Given the description of an element on the screen output the (x, y) to click on. 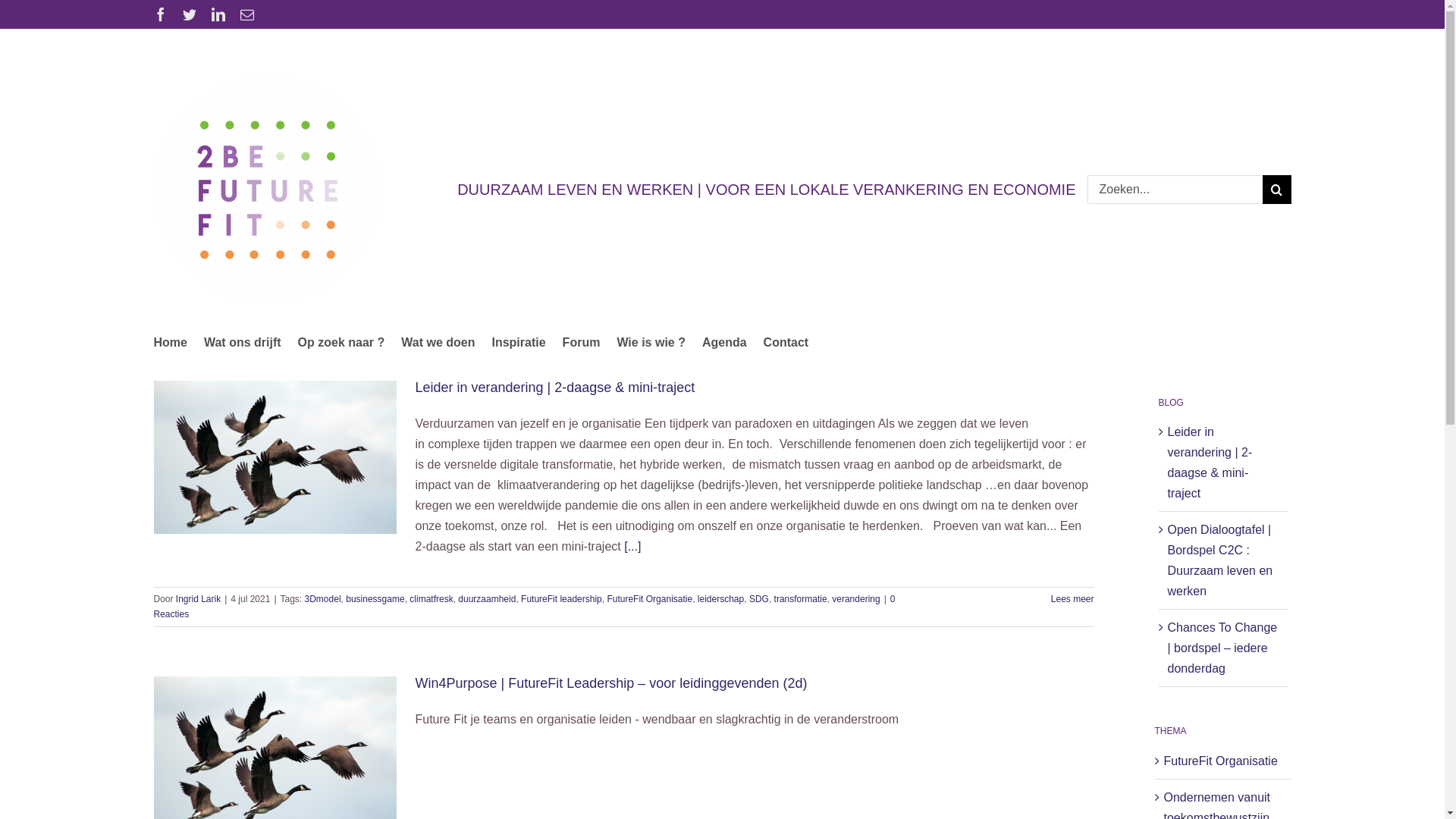
FutureFit Organisatie Element type: text (1223, 760)
Agenda Element type: text (724, 341)
Inspiratie Element type: text (518, 341)
Open Dialoogtafel | Bordspel C2C : Duurzaam leven en werken Element type: text (1220, 560)
Lees meer Element type: text (1072, 598)
transformatie Element type: text (800, 598)
[...] Element type: text (632, 545)
leiderschap Element type: text (720, 598)
FutureFit leadership Element type: text (561, 598)
Wat we doen Element type: text (437, 341)
Forum Element type: text (581, 341)
Wat ons drijft Element type: text (242, 341)
Op zoek naar ? Element type: text (341, 341)
climatfresk Element type: text (430, 598)
duurzaamheid Element type: text (486, 598)
Contact Element type: text (786, 341)
businessgame Element type: text (374, 598)
Leider in verandering | 2-daagse & mini-traject Element type: text (1209, 462)
0 Reacties Element type: text (523, 606)
LinkedIn Element type: text (217, 14)
verandering Element type: text (855, 598)
Leider in verandering | 2-daagse & mini-traject Element type: text (555, 387)
SDG Element type: text (758, 598)
3Dmodel Element type: text (322, 598)
Facebook Element type: text (159, 14)
FutureFit Organisatie Element type: text (649, 598)
Home Element type: text (169, 341)
Twitter Element type: text (188, 14)
Wie is wie ? Element type: text (650, 341)
Ingrid Larik Element type: text (197, 598)
E-mail Element type: text (246, 14)
